Given the description of an element on the screen output the (x, y) to click on. 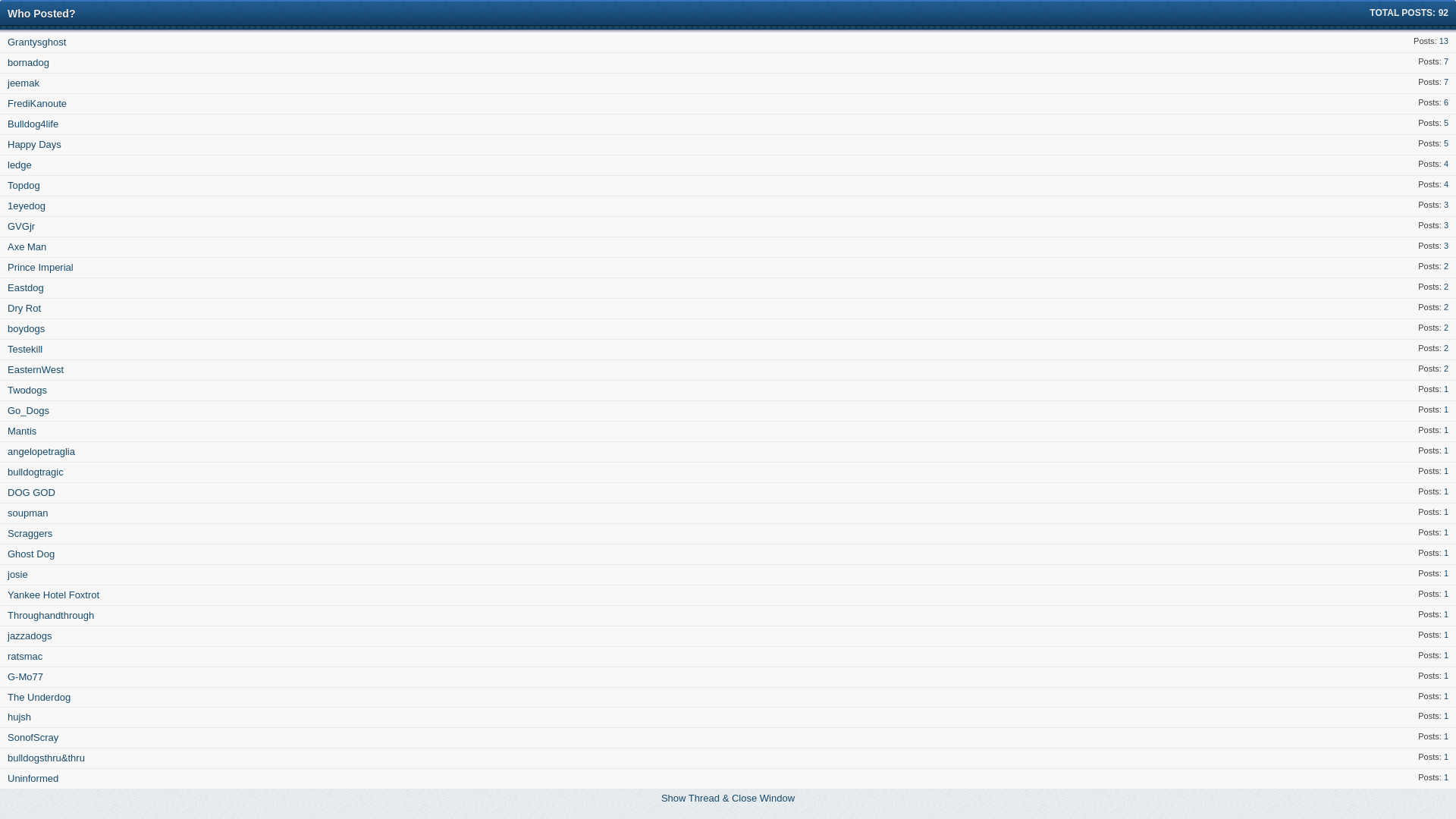
1eyedog Element type: text (26, 205)
1 Element type: text (1445, 613)
2 Element type: text (1445, 286)
3 Element type: text (1445, 245)
2 Element type: text (1445, 306)
Show Thread & Close Window Element type: text (727, 797)
Throughandthrough Element type: text (50, 615)
bulldogtragic Element type: text (35, 471)
1 Element type: text (1445, 470)
boydogs Element type: text (25, 328)
Scraggers Element type: text (29, 533)
4 Element type: text (1445, 163)
1 Element type: text (1445, 450)
2 Element type: text (1445, 327)
Go_Dogs Element type: text (28, 410)
1 Element type: text (1445, 715)
Dry Rot Element type: text (23, 307)
1 Element type: text (1445, 756)
Mantis Element type: text (21, 430)
josie Element type: text (17, 574)
SonofScray Element type: text (32, 737)
1 Element type: text (1445, 429)
1 Element type: text (1445, 511)
Prince Imperial Element type: text (40, 267)
Uninformed Element type: text (32, 778)
13 Element type: text (1443, 40)
1 Element type: text (1445, 695)
FrediKanoute Element type: text (36, 103)
6 Element type: text (1445, 101)
5 Element type: text (1445, 122)
2 Element type: text (1445, 265)
jazzadogs Element type: text (29, 635)
GVGjr Element type: text (20, 226)
1 Element type: text (1445, 675)
1 Element type: text (1445, 776)
EasternWest Element type: text (35, 369)
Ghost Dog Element type: text (30, 553)
1 Element type: text (1445, 531)
bornadog Element type: text (28, 62)
5 Element type: text (1445, 142)
hujsh Element type: text (19, 716)
1 Element type: text (1445, 593)
Topdog Element type: text (23, 185)
1 Element type: text (1445, 409)
Axe Man Element type: text (26, 246)
4 Element type: text (1445, 183)
Bulldog4life Element type: text (32, 123)
3 Element type: text (1445, 224)
ratsmac Element type: text (24, 656)
Grantysghost Element type: text (36, 41)
Happy Days Element type: text (34, 144)
The Underdog Element type: text (38, 696)
bulldogsthru&thru Element type: text (45, 757)
ledge Element type: text (19, 164)
1 Element type: text (1445, 572)
2 Element type: text (1445, 347)
1 Element type: text (1445, 490)
soupman Element type: text (27, 512)
7 Element type: text (1445, 60)
Yankee Hotel Foxtrot Element type: text (53, 594)
Twodogs Element type: text (27, 389)
1 Element type: text (1445, 388)
1 Element type: text (1445, 735)
1 Element type: text (1445, 654)
7 Element type: text (1445, 81)
2 Element type: text (1445, 368)
DOG GOD Element type: text (31, 492)
1 Element type: text (1445, 552)
G-Mo77 Element type: text (25, 676)
angelopetraglia Element type: text (41, 451)
jeemak Element type: text (23, 82)
3 Element type: text (1445, 204)
Eastdog Element type: text (25, 287)
1 Element type: text (1445, 634)
Testekill Element type: text (24, 348)
